Given the description of an element on the screen output the (x, y) to click on. 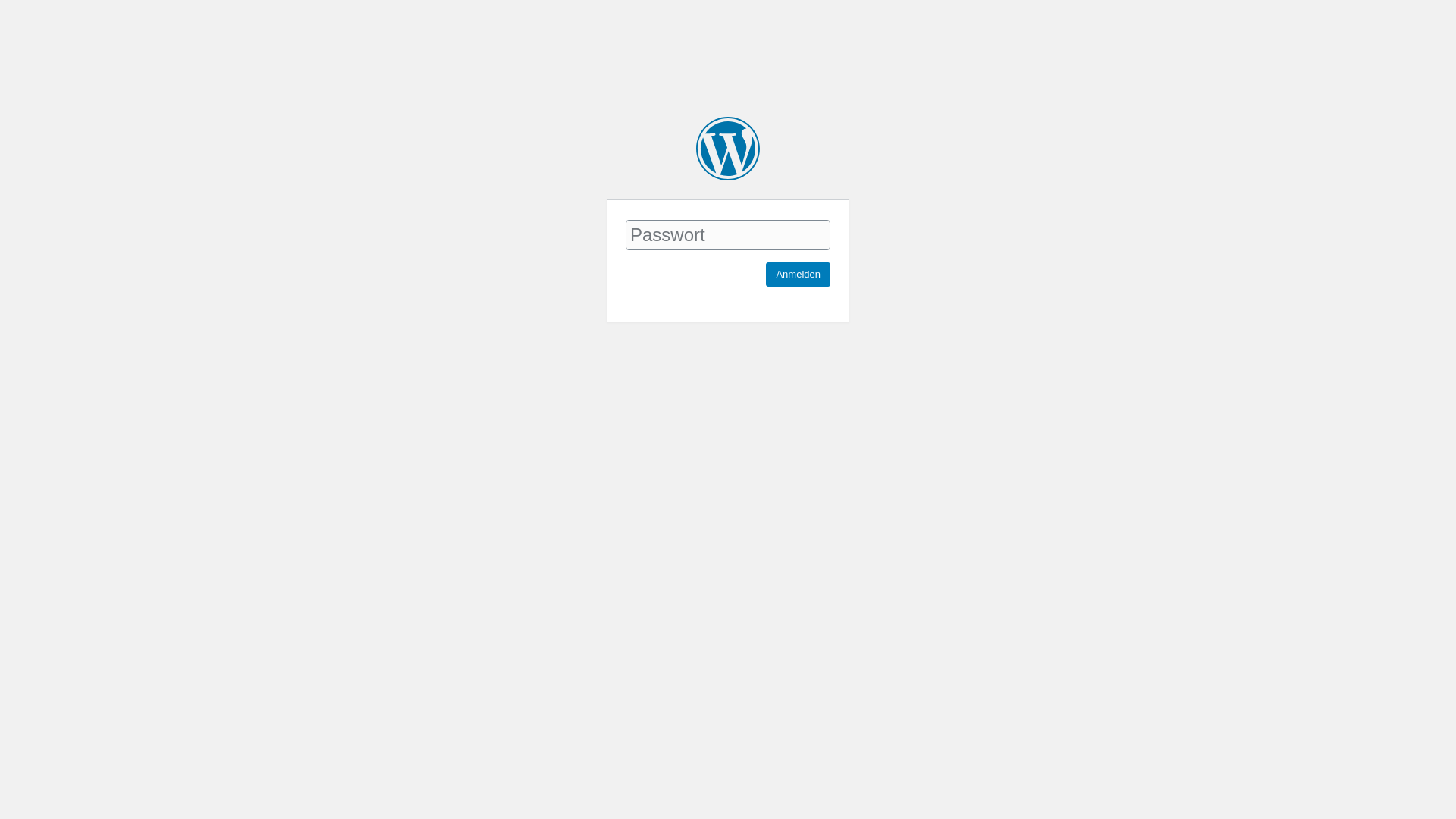
FLEET . 10TACEL Element type: text (727, 148)
Anmelden Element type: text (797, 274)
